Given the description of an element on the screen output the (x, y) to click on. 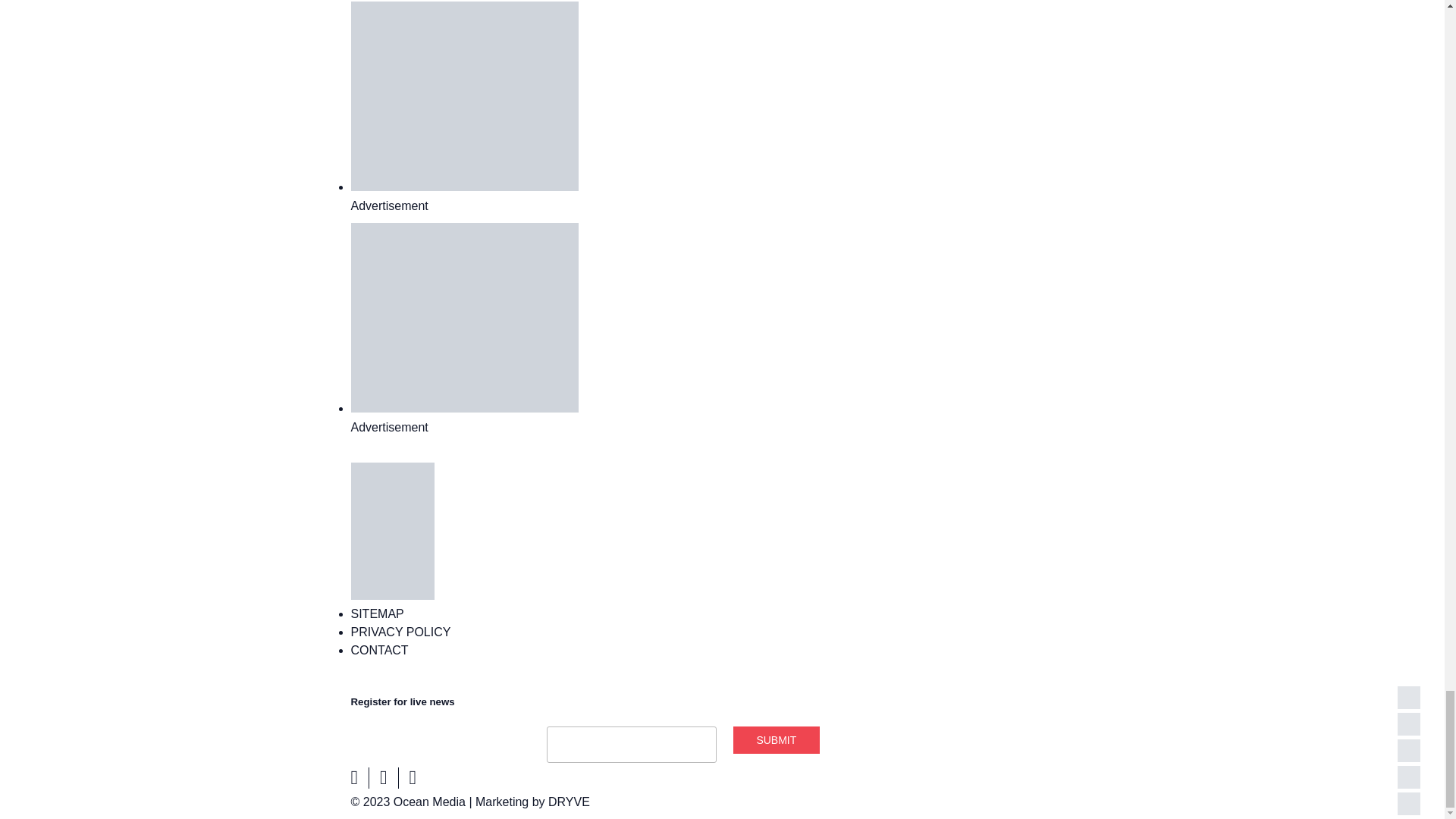
Submit (776, 739)
